Given the description of an element on the screen output the (x, y) to click on. 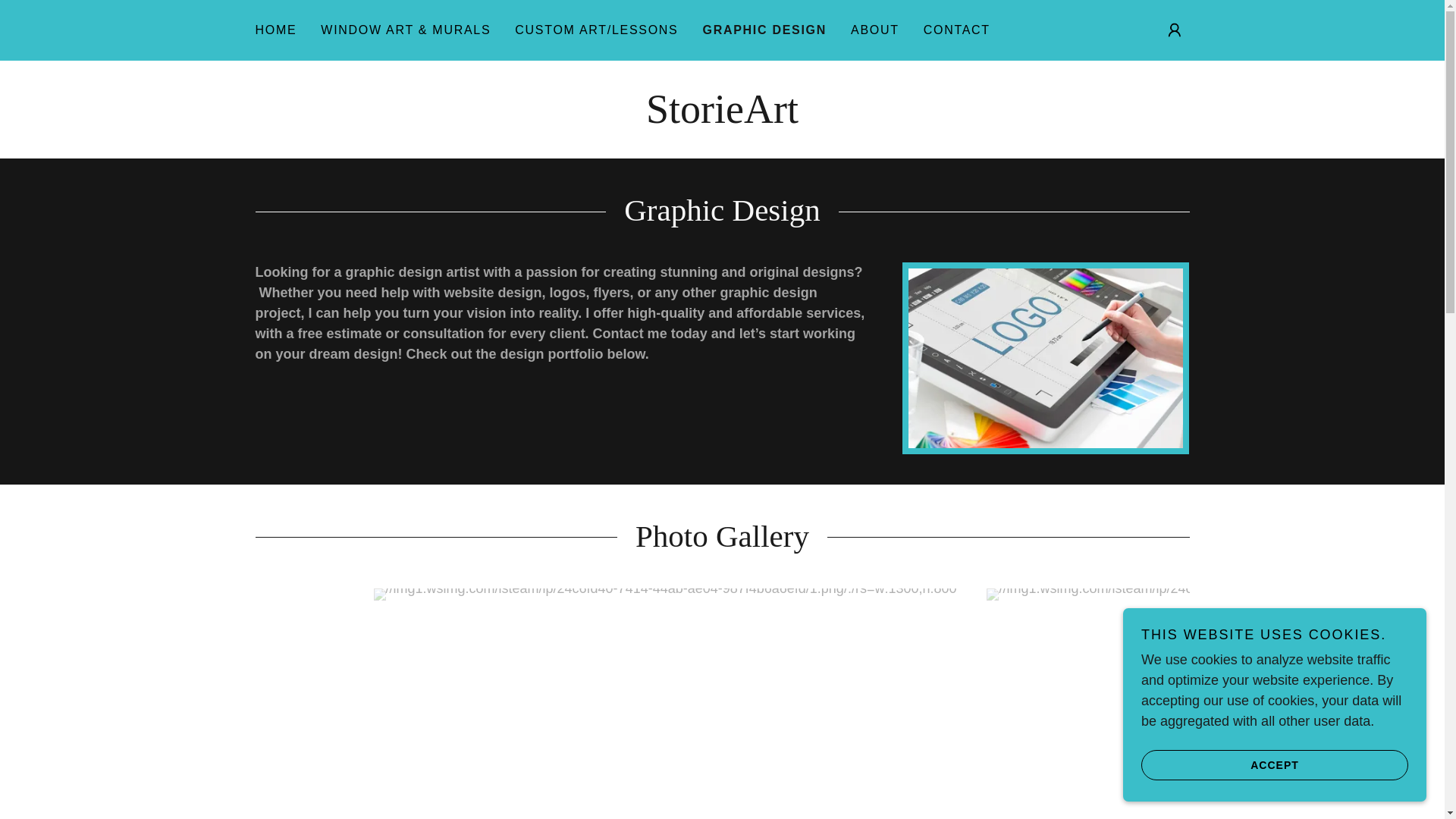
HOME (275, 30)
StorieArt (721, 118)
ACCEPT (1274, 764)
ABOUT (874, 30)
CONTACT (956, 30)
StorieArt (721, 118)
GRAPHIC DESIGN (764, 30)
